Given the description of an element on the screen output the (x, y) to click on. 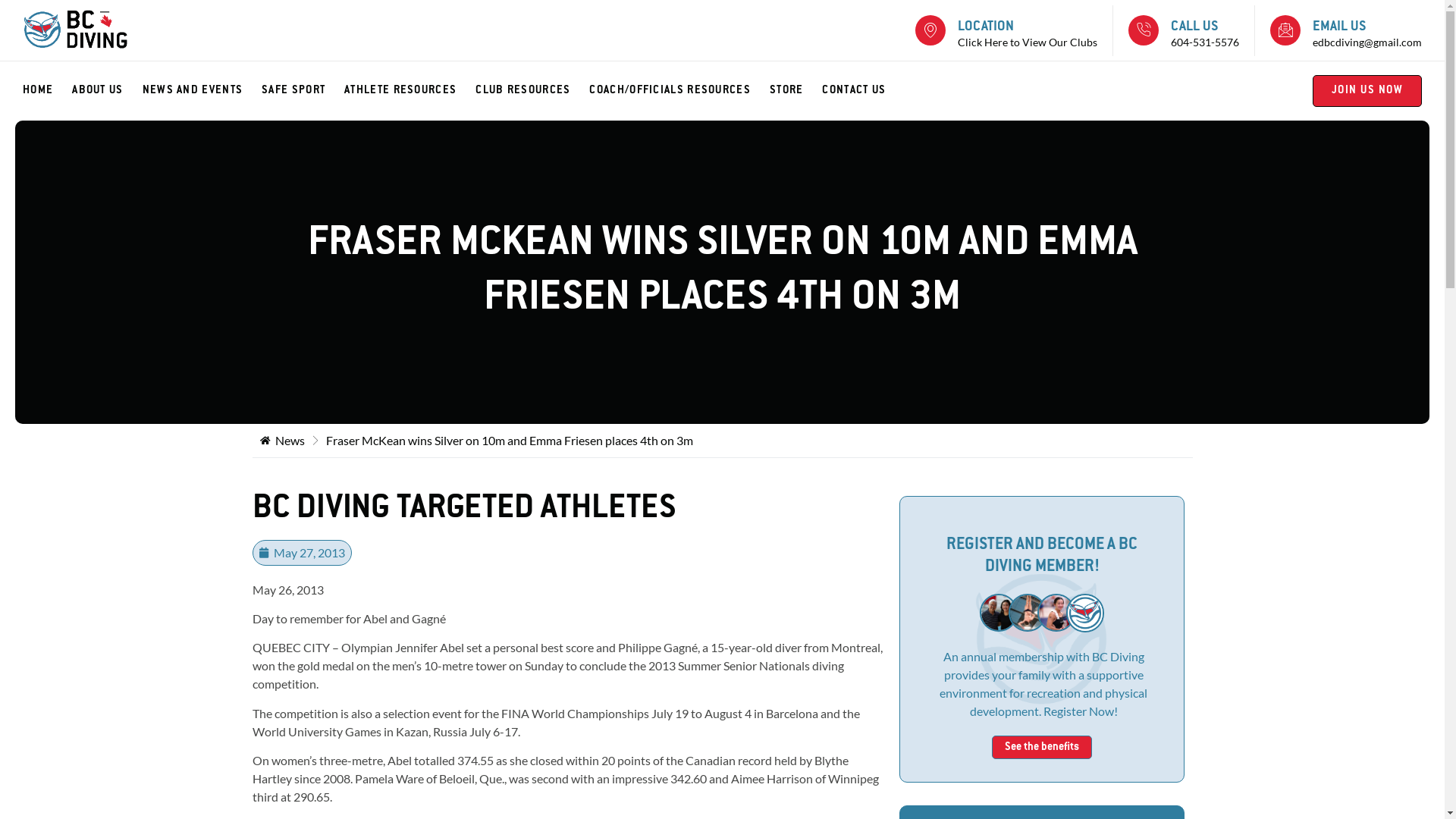
ABOUT US Element type: text (106, 91)
CONTACT US Element type: text (863, 91)
EMAIL US Element type: text (1338, 27)
SAFE SPORT Element type: text (302, 91)
COACH/OFFICIALS RESOURCES Element type: text (679, 91)
HOME Element type: text (47, 91)
CALL US Element type: text (1193, 27)
JOIN US NOW Element type: text (1366, 90)
STORE Element type: text (795, 91)
LOCATION Element type: text (985, 27)
News Element type: text (281, 440)
See the benefits Element type: text (1041, 747)
CLUB RESOURCES Element type: text (532, 91)
ATHLETE RESOURCES Element type: text (409, 91)
NEWS AND EVENTS Element type: text (202, 91)
May 27, 2013 Element type: text (302, 552)
